Given the description of an element on the screen output the (x, y) to click on. 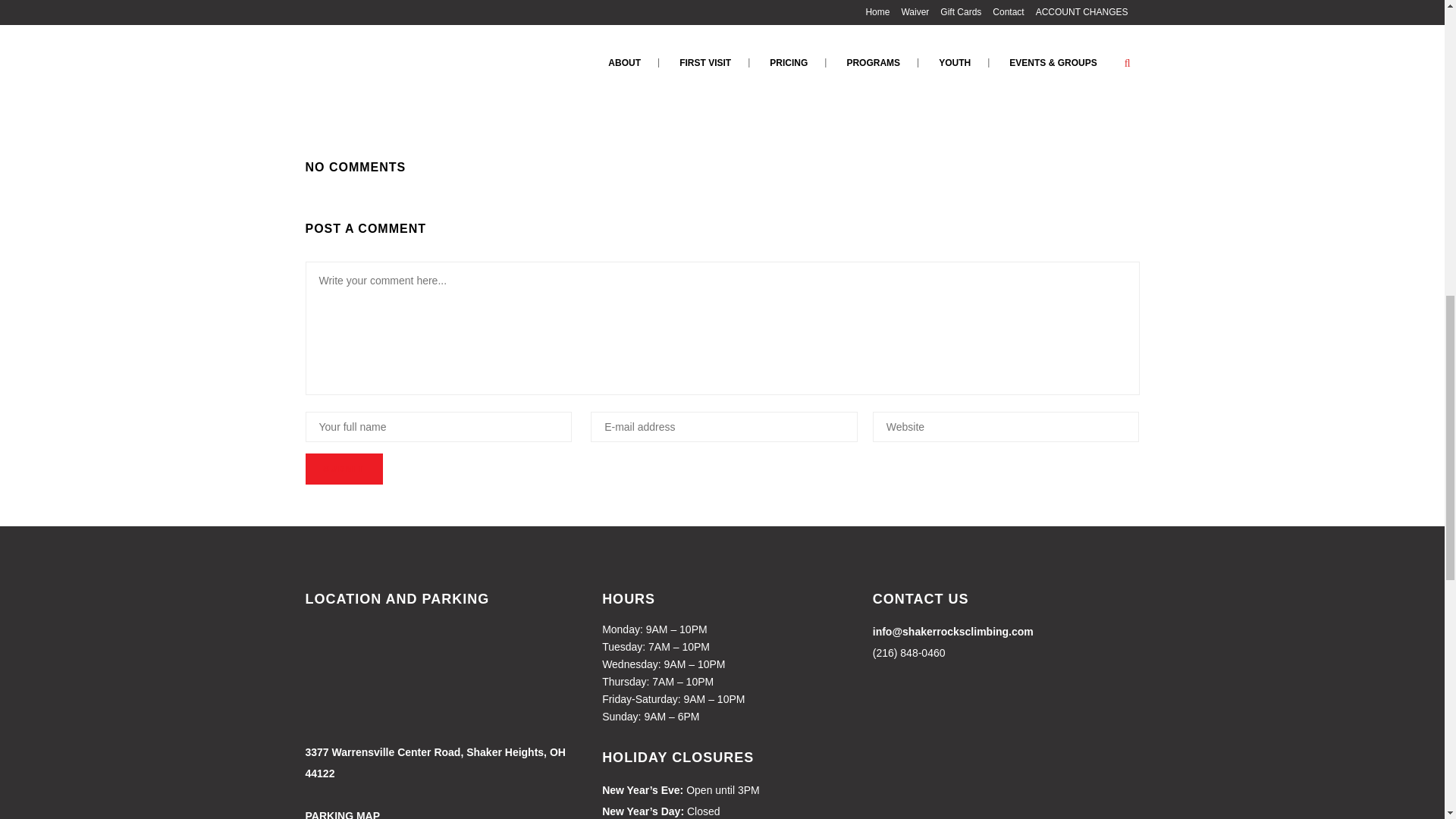
Submit (342, 468)
